Given the description of an element on the screen output the (x, y) to click on. 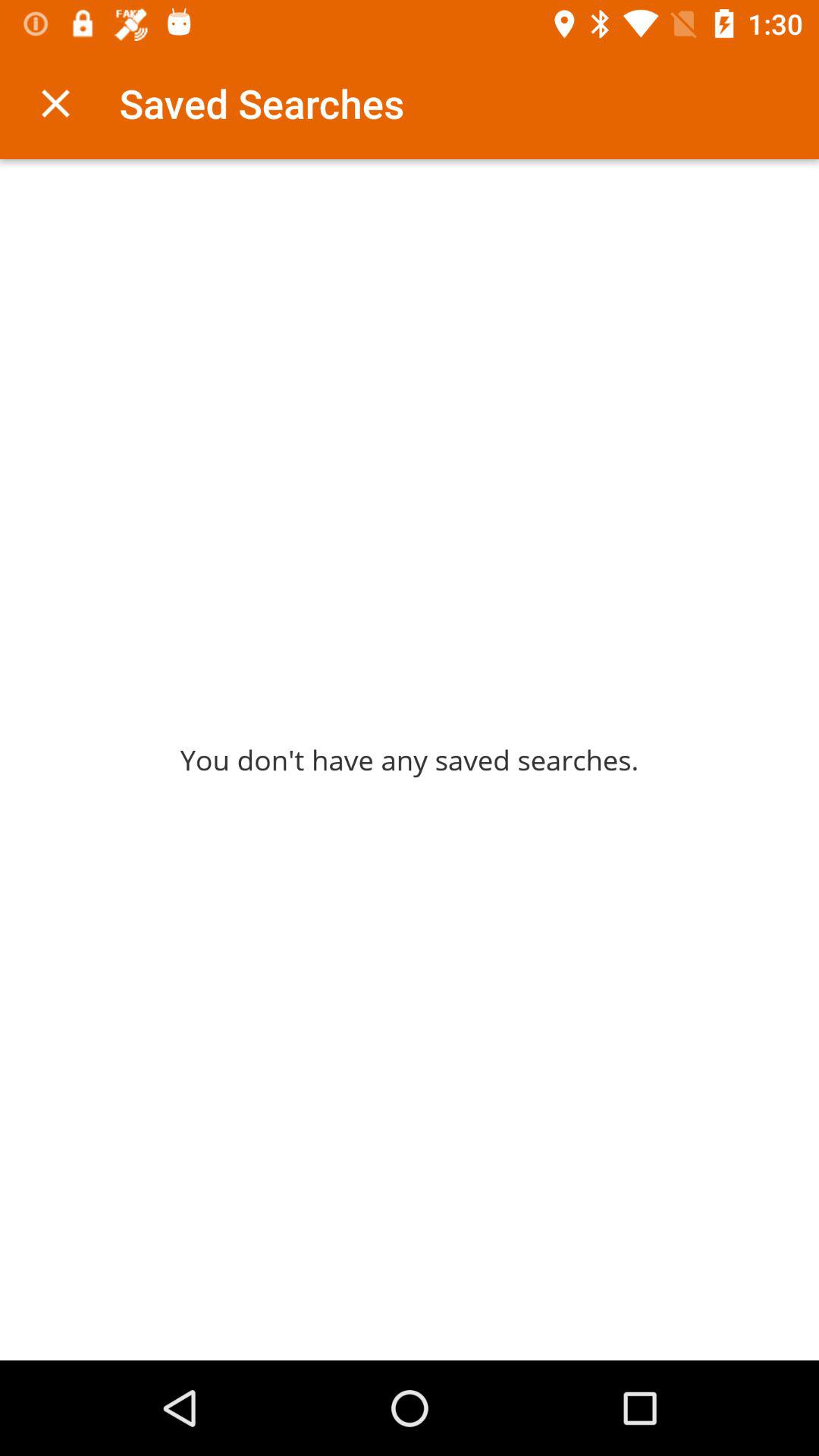
close window (55, 103)
